Given the description of an element on the screen output the (x, y) to click on. 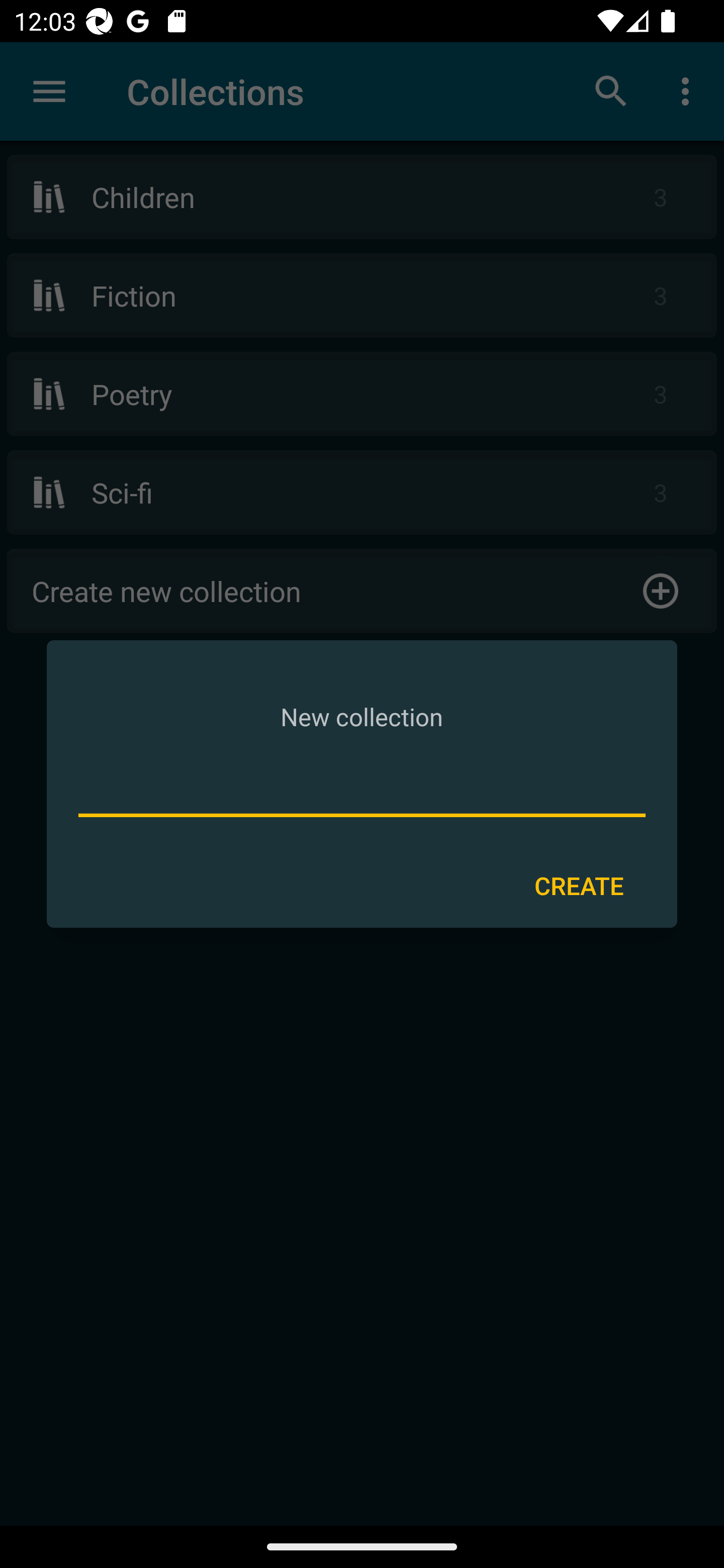
CREATE (578, 885)
